Given the description of an element on the screen output the (x, y) to click on. 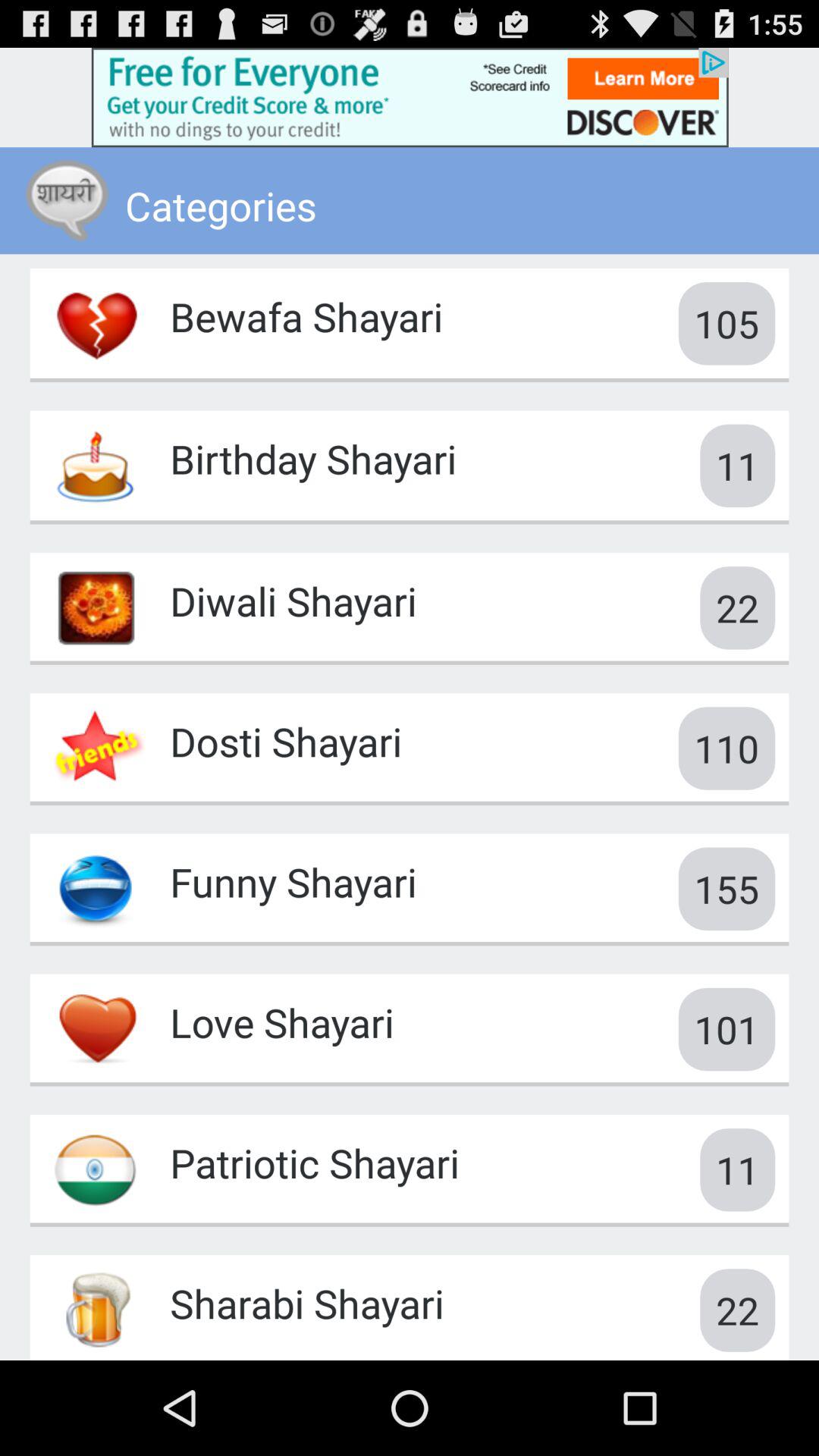
click the advertisement (409, 97)
